Given the description of an element on the screen output the (x, y) to click on. 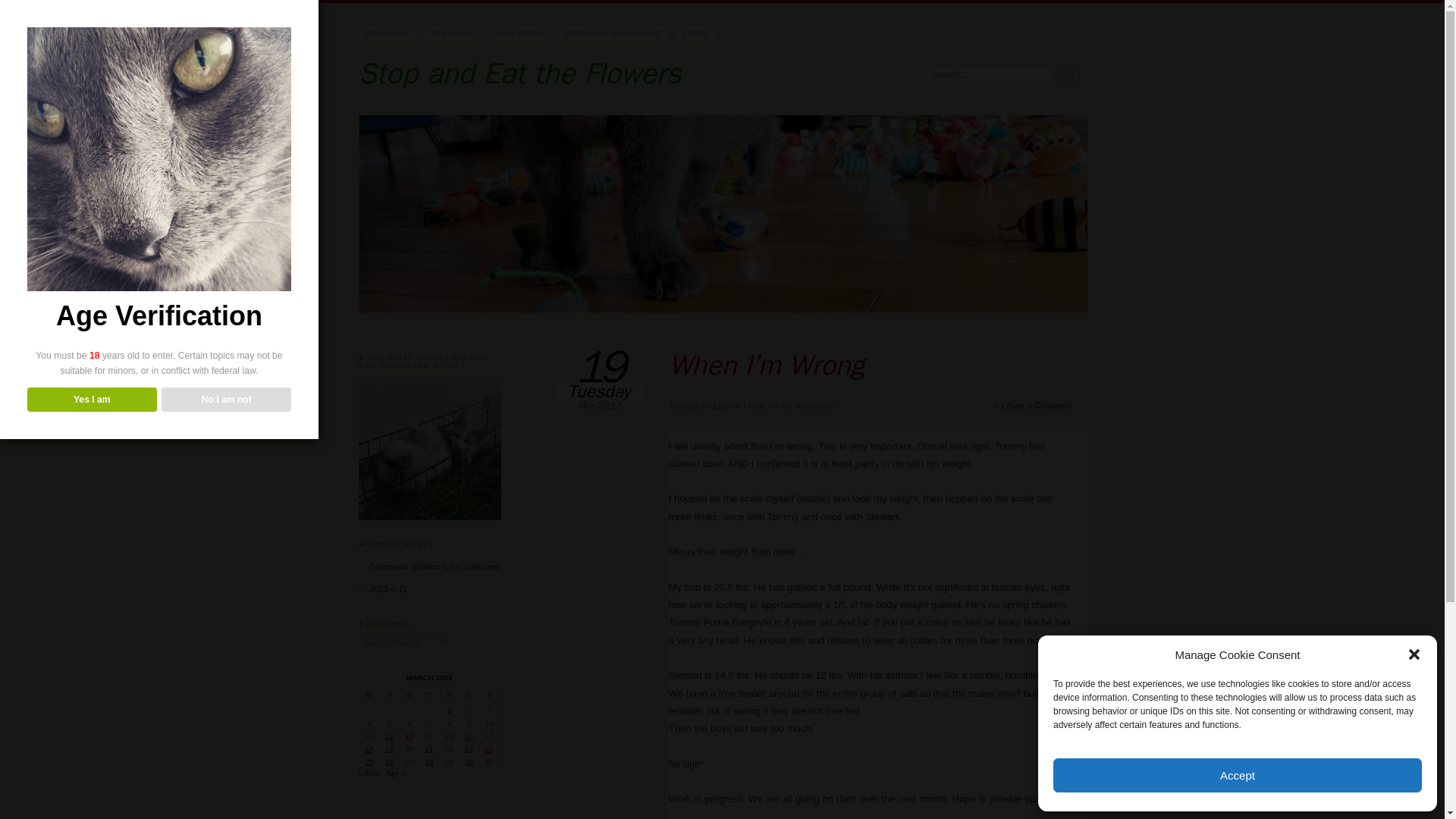
21 (428, 748)
OUR CATS (452, 33)
Lala (721, 405)
13 (408, 736)
Saturday (468, 695)
PREVIOUS MENAGERIE (612, 33)
OUR BIRDS (519, 33)
View all posts by Lala (721, 405)
19 (389, 748)
2022-5-11 (388, 588)
